Given the description of an element on the screen output the (x, y) to click on. 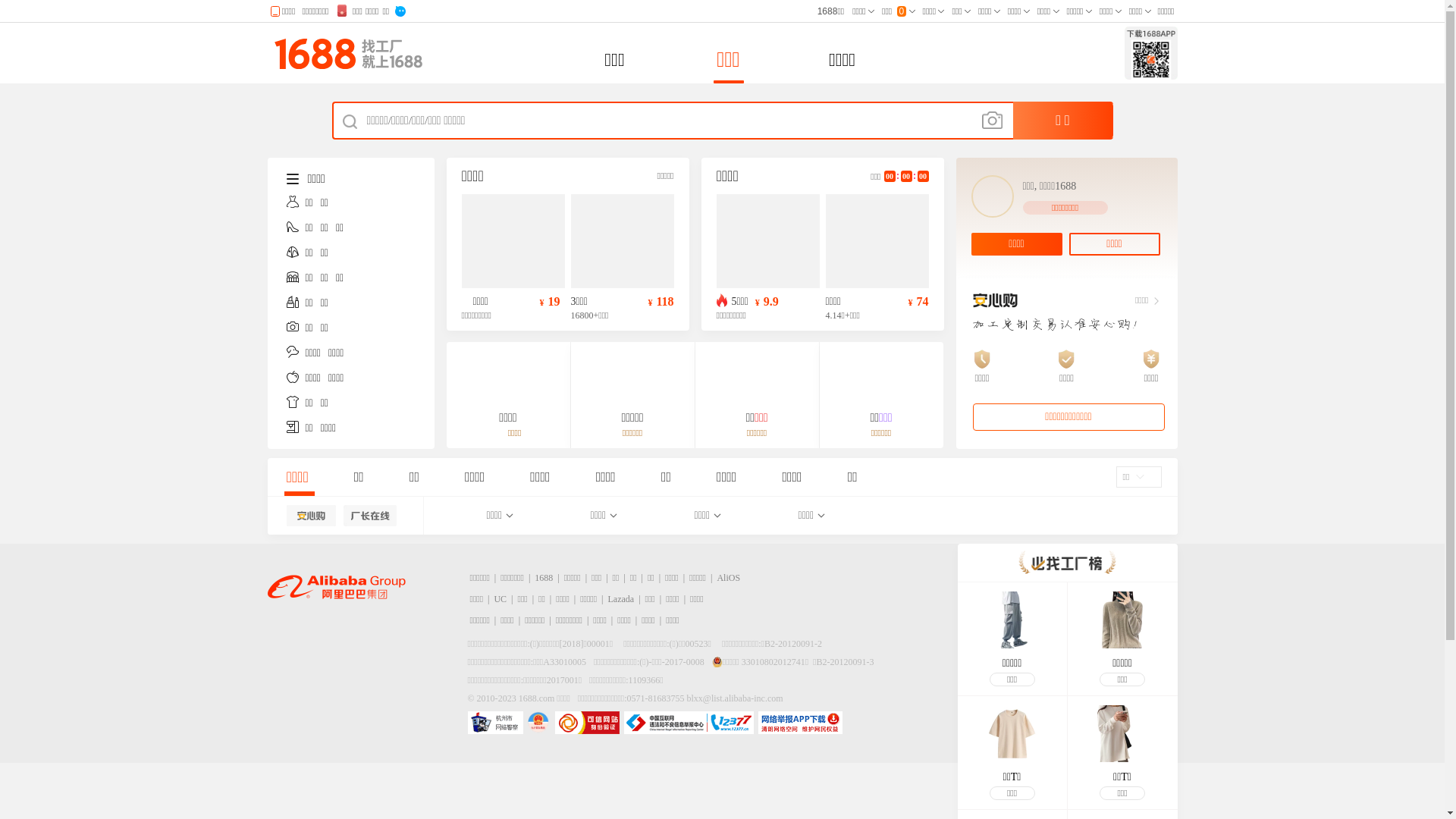
1688 Element type: text (543, 577)
AliOS Element type: text (728, 577)
UC Element type: text (499, 598)
Lazada Element type: text (621, 598)
